Given the description of an element on the screen output the (x, y) to click on. 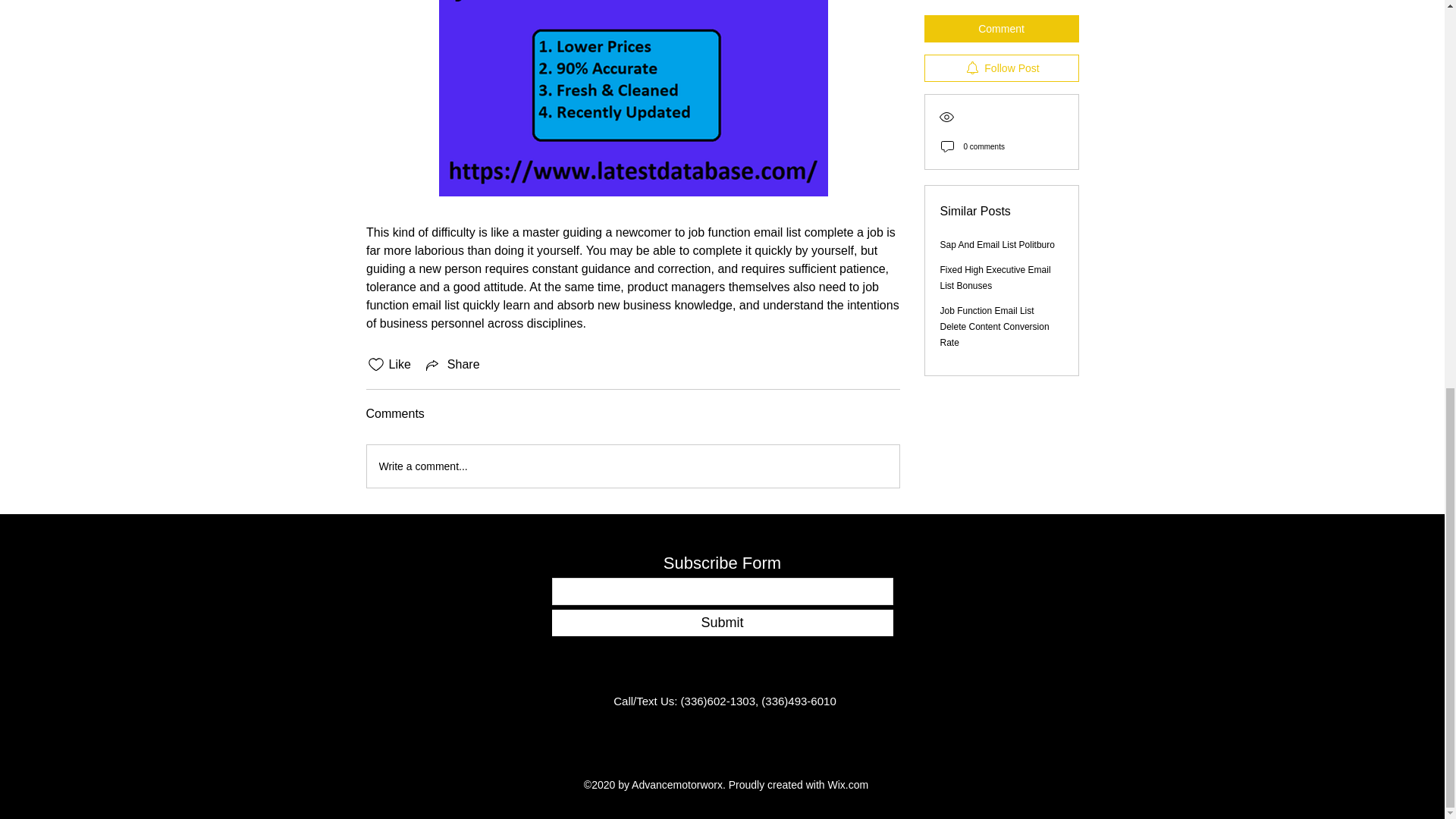
Write a comment... (632, 466)
Share (451, 364)
Submit (722, 622)
